Given the description of an element on the screen output the (x, y) to click on. 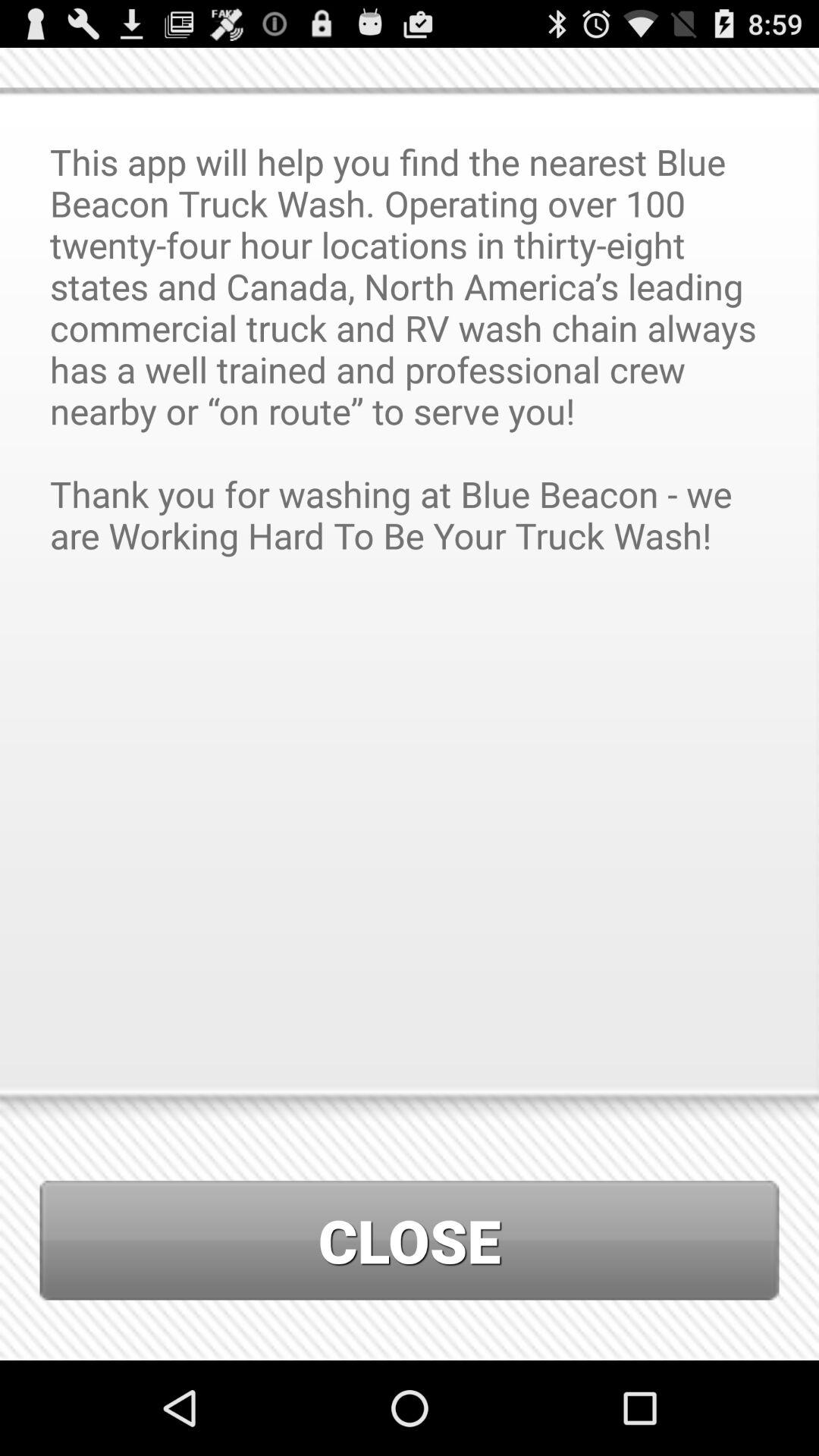
press the close at the bottom (409, 1240)
